Given the description of an element on the screen output the (x, y) to click on. 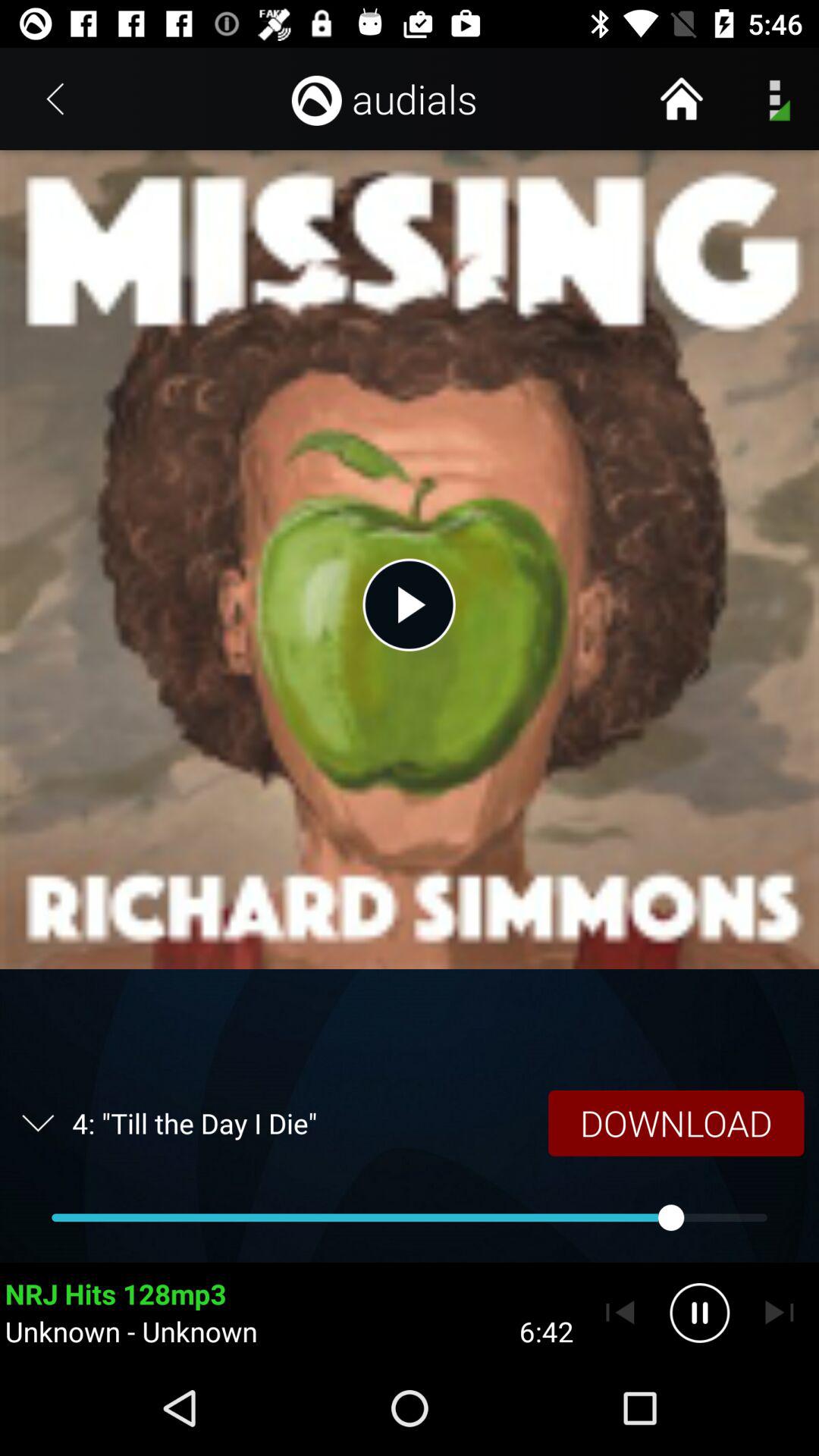
go to previous trek (619, 1312)
